Given the description of an element on the screen output the (x, y) to click on. 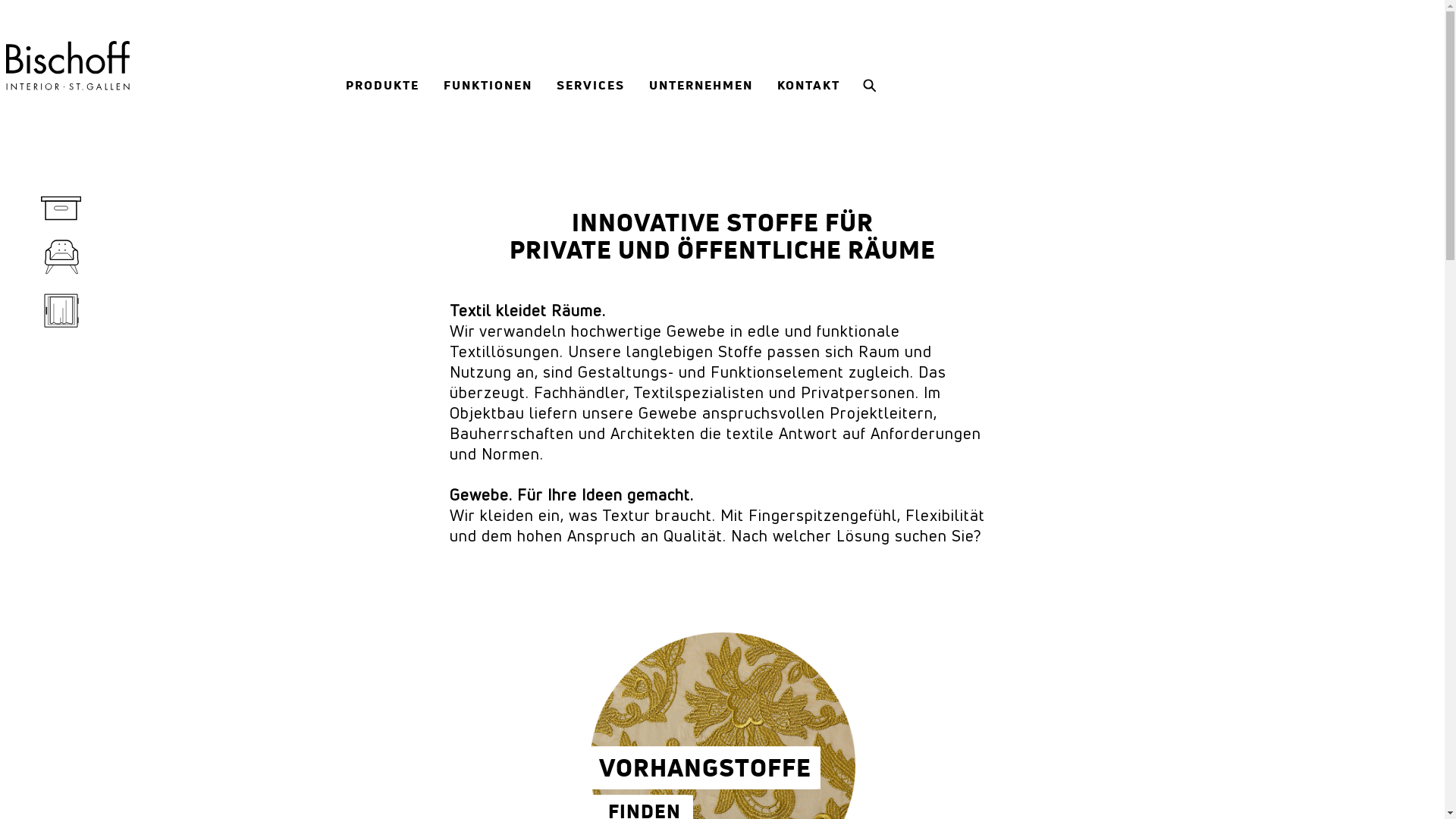
SERVICES Element type: text (590, 85)
KONTAKT Element type: text (808, 85)
PRODUKTE Element type: text (382, 85)
FUNKTIONEN Element type: text (487, 85)
UNTERNEHMEN Element type: text (700, 85)
